Given the description of an element on the screen output the (x, y) to click on. 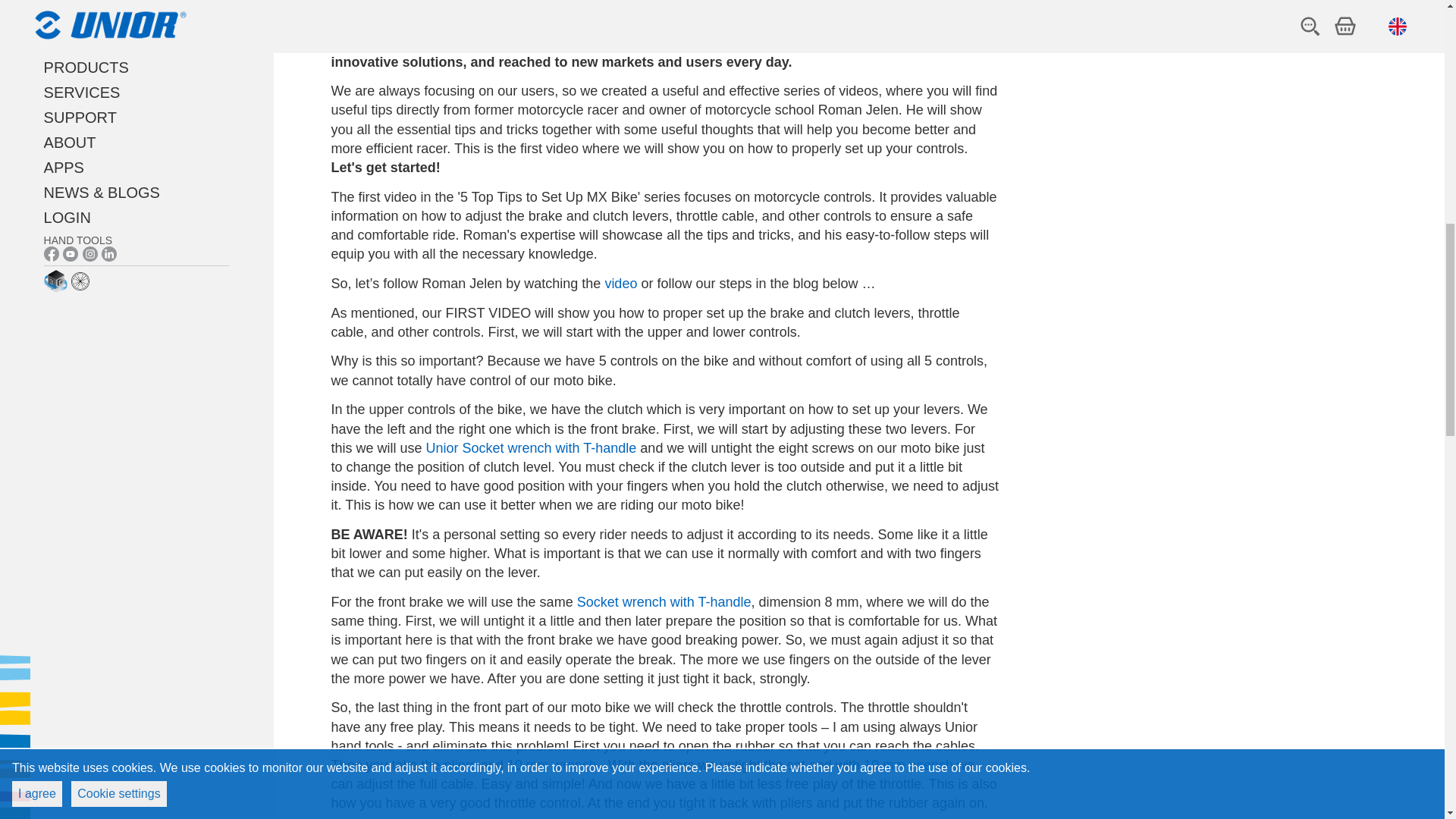
video (620, 283)
Socket wrench with T-handle (663, 601)
10 mm wrench (908, 765)
Moto Tools (719, 23)
pliers (460, 765)
Unior Socket wrench with T-handle (531, 447)
10 mm wrench (551, 765)
